Given the description of an element on the screen output the (x, y) to click on. 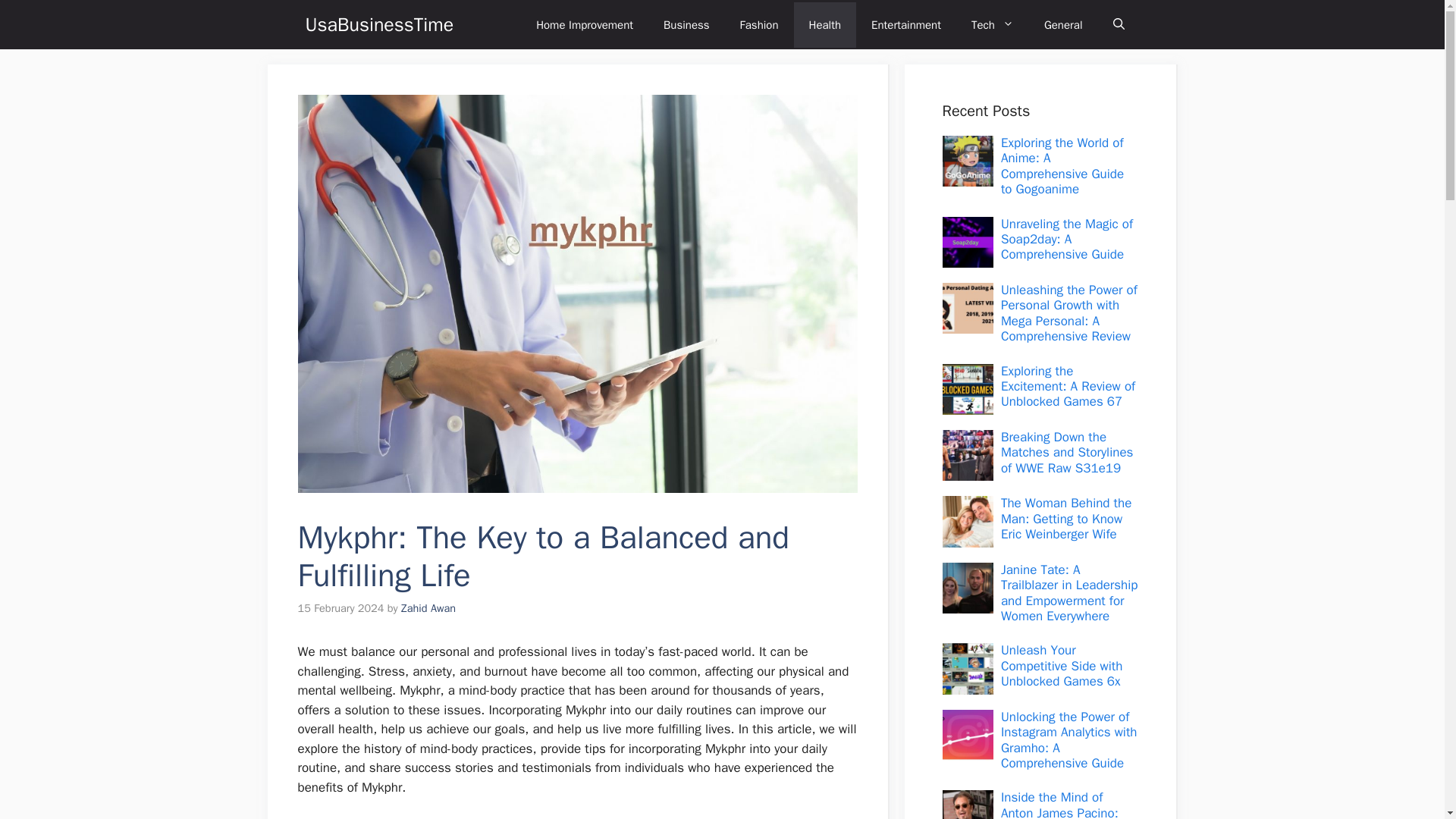
General (1063, 23)
Zahid Awan (428, 608)
UsaBusinessTime (378, 24)
View all posts by Zahid Awan (428, 608)
Home Improvement (584, 23)
Exploring the Excitement: A Review of Unblocked Games 67 (1068, 386)
Unleash Your Competitive Side with Unblocked Games 6x (1061, 665)
